Given the description of an element on the screen output the (x, y) to click on. 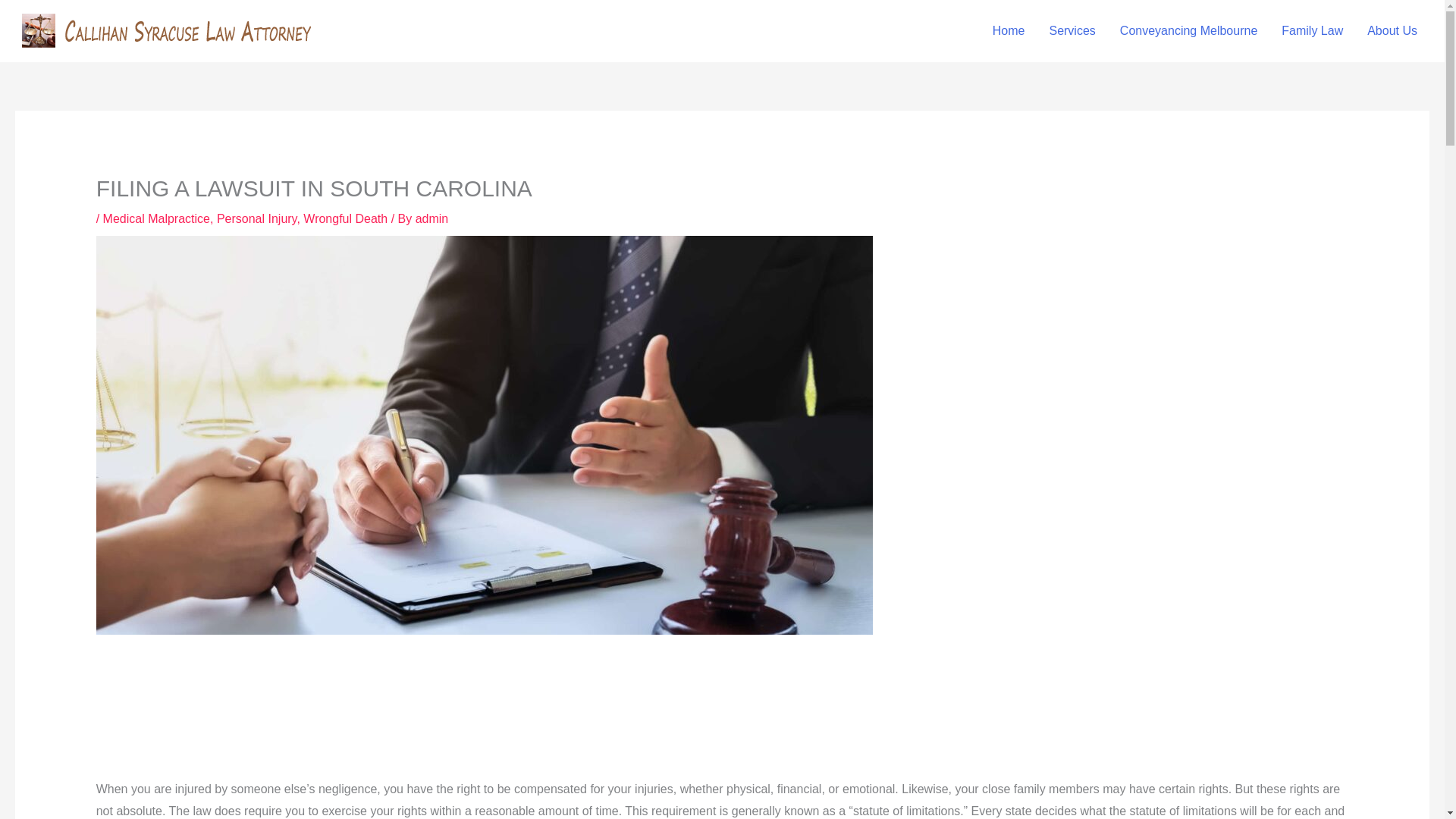
View all posts by admin (431, 218)
admin (431, 218)
Medical Malpractice (156, 218)
Home (1007, 30)
Services (1071, 30)
Personal Injury (256, 218)
Family Law (1312, 30)
About Us (1392, 30)
Wrongful Death (344, 218)
Conveyancing Melbourne (1188, 30)
